Given the description of an element on the screen output the (x, y) to click on. 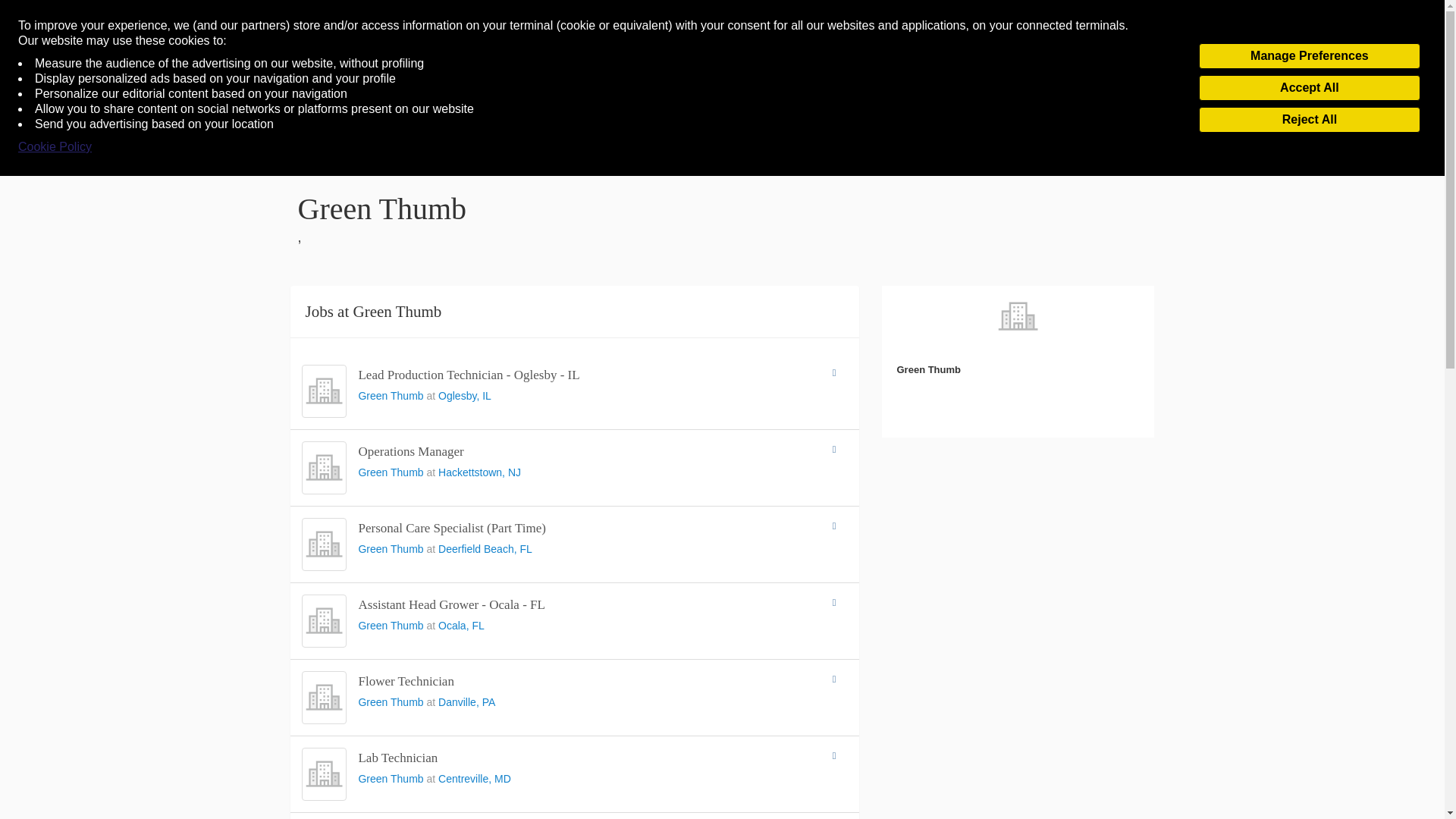
Accept All (1309, 87)
lehighvalleylive.com (720, 87)
Cookie Policy (54, 146)
Manage Preferences (1309, 55)
Reject All (1309, 119)
lehighvalleylive.com (720, 87)
Menu (40, 89)
